Given the description of an element on the screen output the (x, y) to click on. 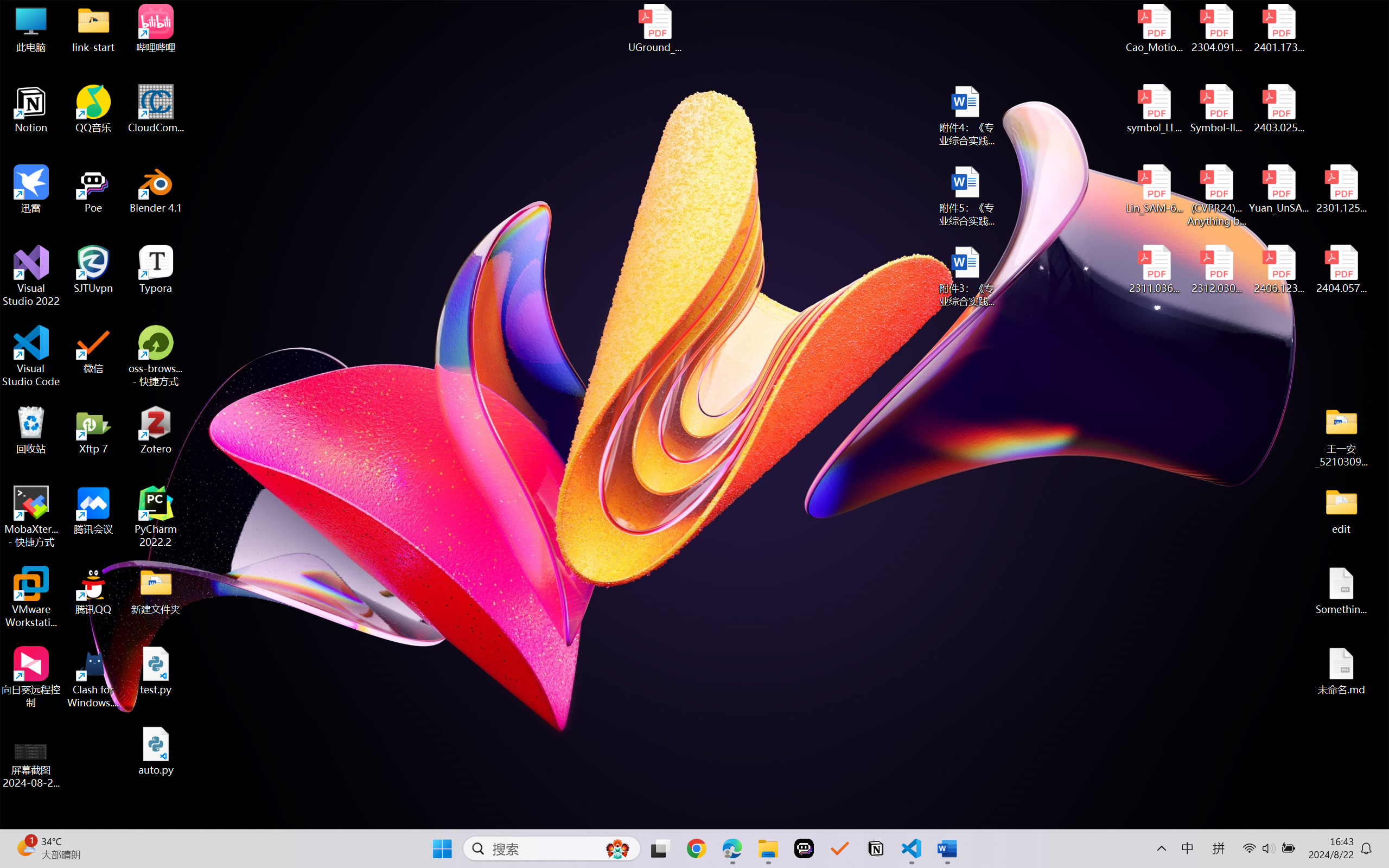
2312.03032v2.pdf (1216, 269)
Something.md (1340, 591)
2401.17399v1.pdf (1278, 28)
